Given the description of an element on the screen output the (x, y) to click on. 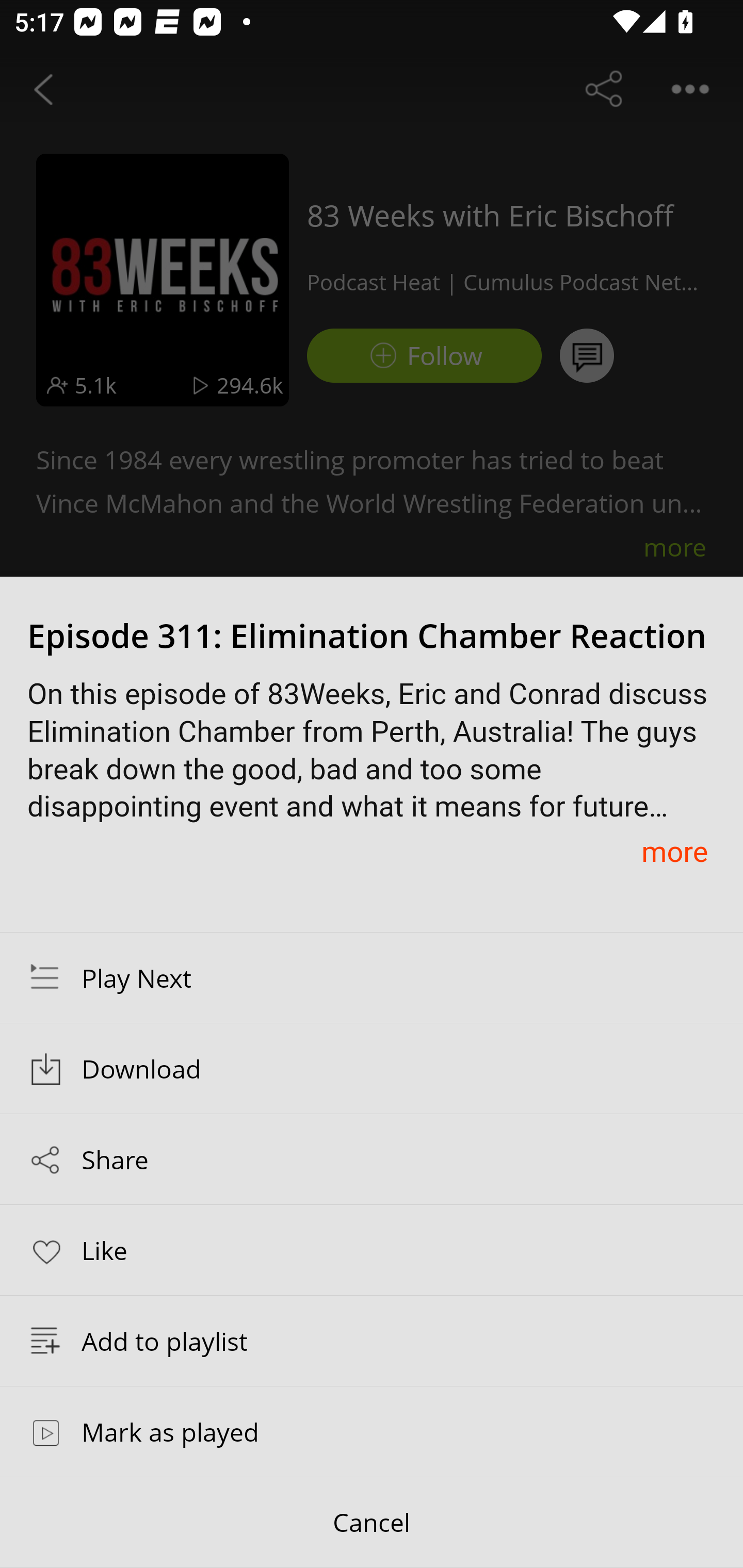
more (674, 851)
Play Next (371, 977)
Download (371, 1068)
Share (371, 1159)
Like (371, 1249)
Add to playlist (371, 1340)
Mark as played (371, 1431)
Cancel (371, 1522)
